Given the description of an element on the screen output the (x, y) to click on. 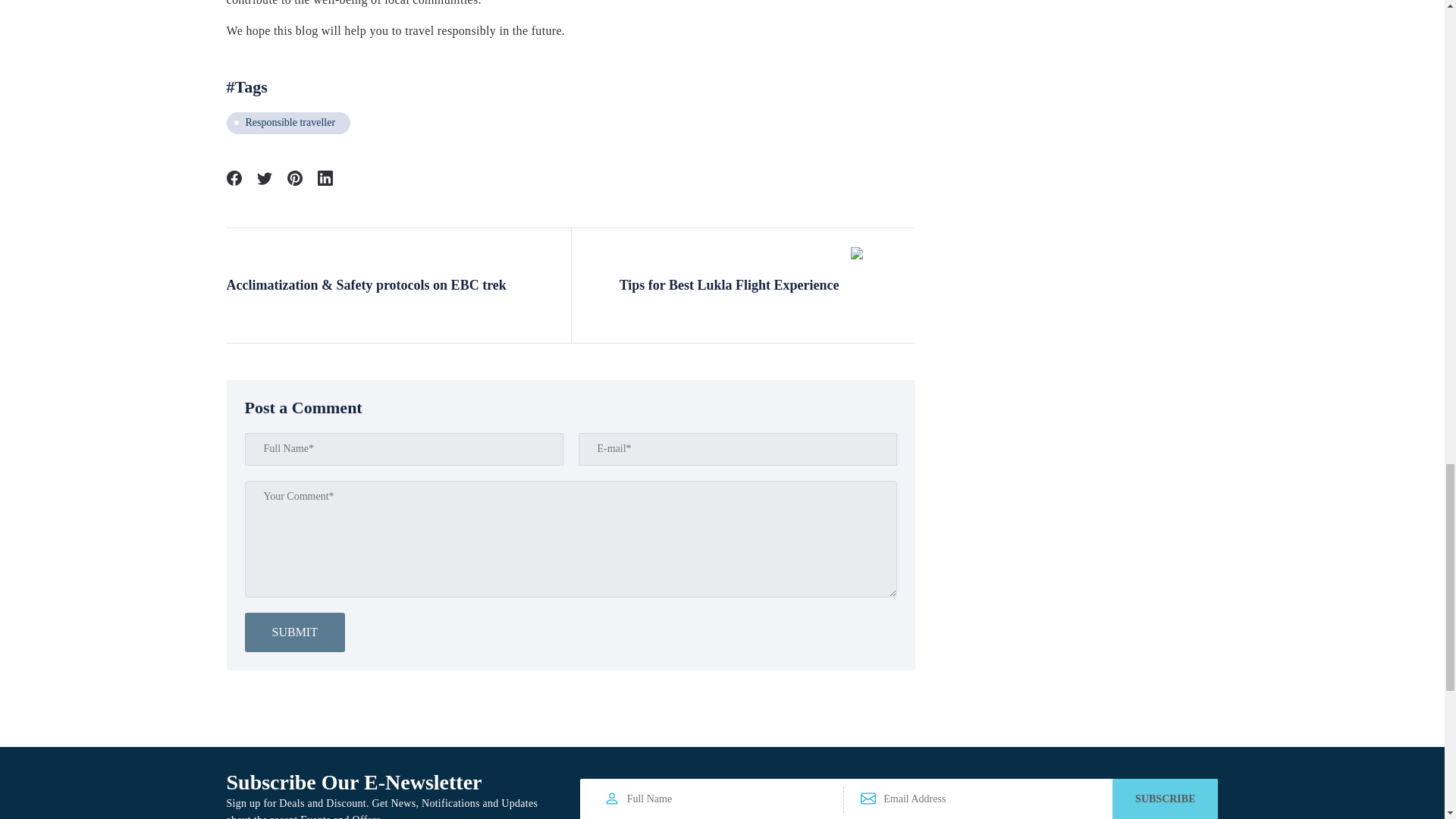
SUBSCRIBE (1164, 798)
Responsible traveller (287, 122)
SUBMIT (293, 631)
Tips for Best Lukla Flight Experience (748, 285)
